Given the description of an element on the screen output the (x, y) to click on. 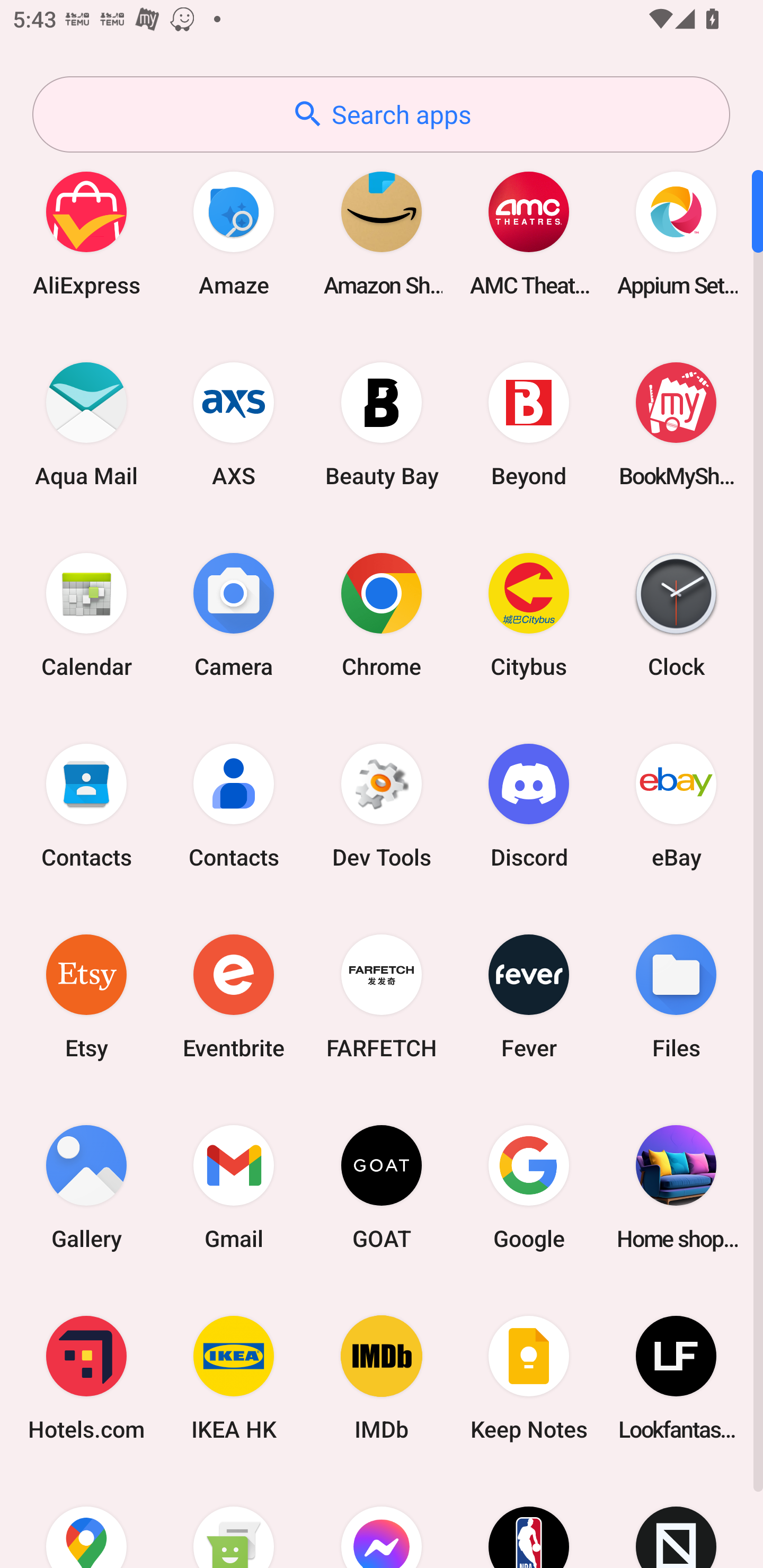
  Search apps (381, 114)
AliExpress (86, 233)
Amaze (233, 233)
Amazon Shopping (381, 233)
AMC Theatres (528, 233)
Appium Settings (676, 233)
Aqua Mail (86, 424)
AXS (233, 424)
Beauty Bay (381, 424)
Beyond (528, 424)
BookMyShow (676, 424)
Calendar (86, 614)
Camera (233, 614)
Chrome (381, 614)
Citybus (528, 614)
Clock (676, 614)
Contacts (86, 805)
Contacts (233, 805)
Dev Tools (381, 805)
Discord (528, 805)
eBay (676, 805)
Etsy (86, 996)
Eventbrite (233, 996)
FARFETCH (381, 996)
Fever (528, 996)
Files (676, 996)
Gallery (86, 1186)
Gmail (233, 1186)
GOAT (381, 1186)
Google (528, 1186)
Home shopping (676, 1186)
Hotels.com (86, 1377)
IKEA HK (233, 1377)
IMDb (381, 1377)
Keep Notes (528, 1377)
Lookfantastic (676, 1377)
Maps (86, 1520)
Messaging (233, 1520)
Messenger (381, 1520)
NBA (528, 1520)
Novelship (676, 1520)
